Given the description of an element on the screen output the (x, y) to click on. 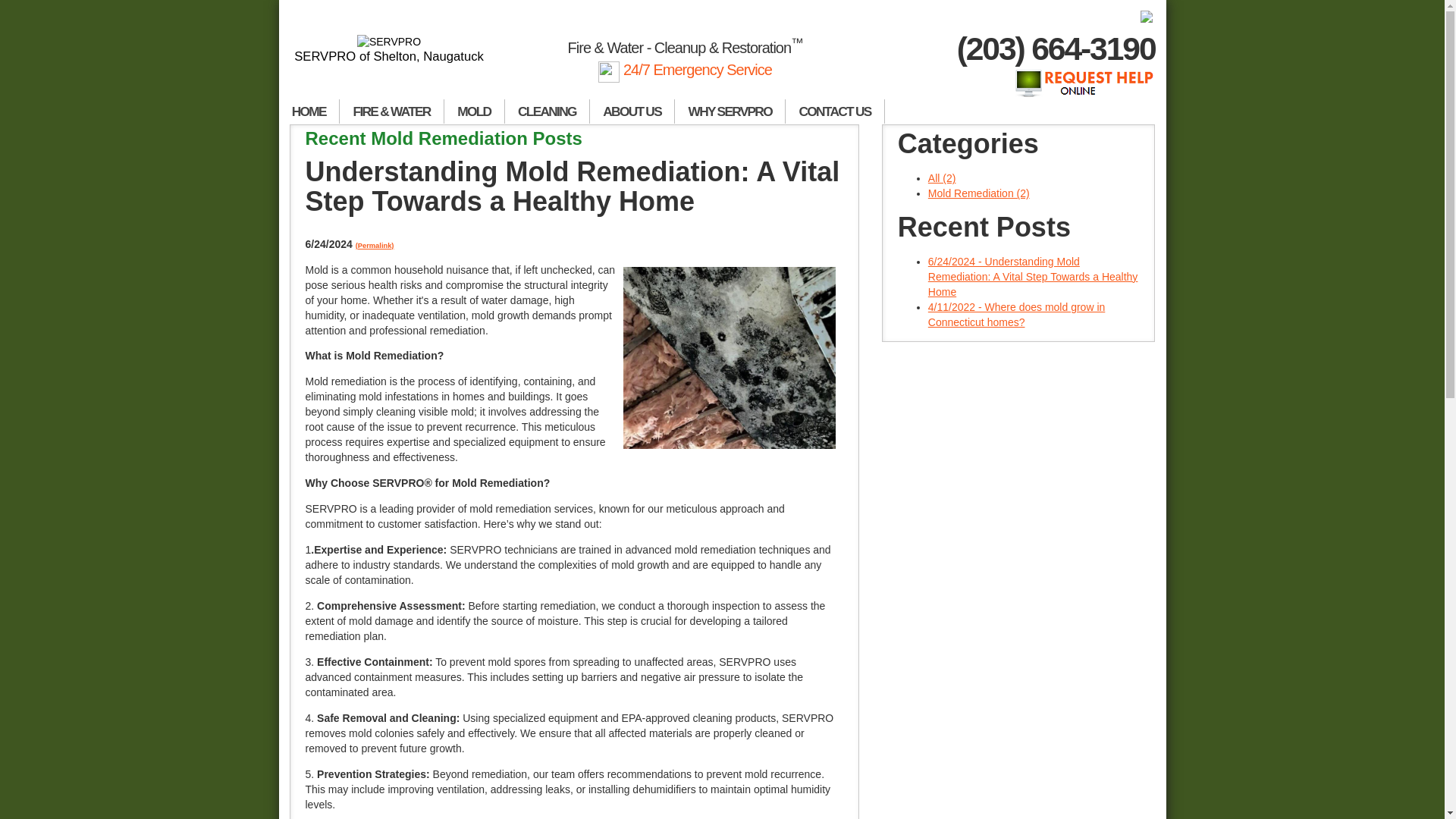
MOLD (474, 111)
HOME (309, 111)
CLEANING (547, 111)
SERVPRO of Shelton, Naugatuck (389, 49)
ABOUT US (632, 111)
